Given the description of an element on the screen output the (x, y) to click on. 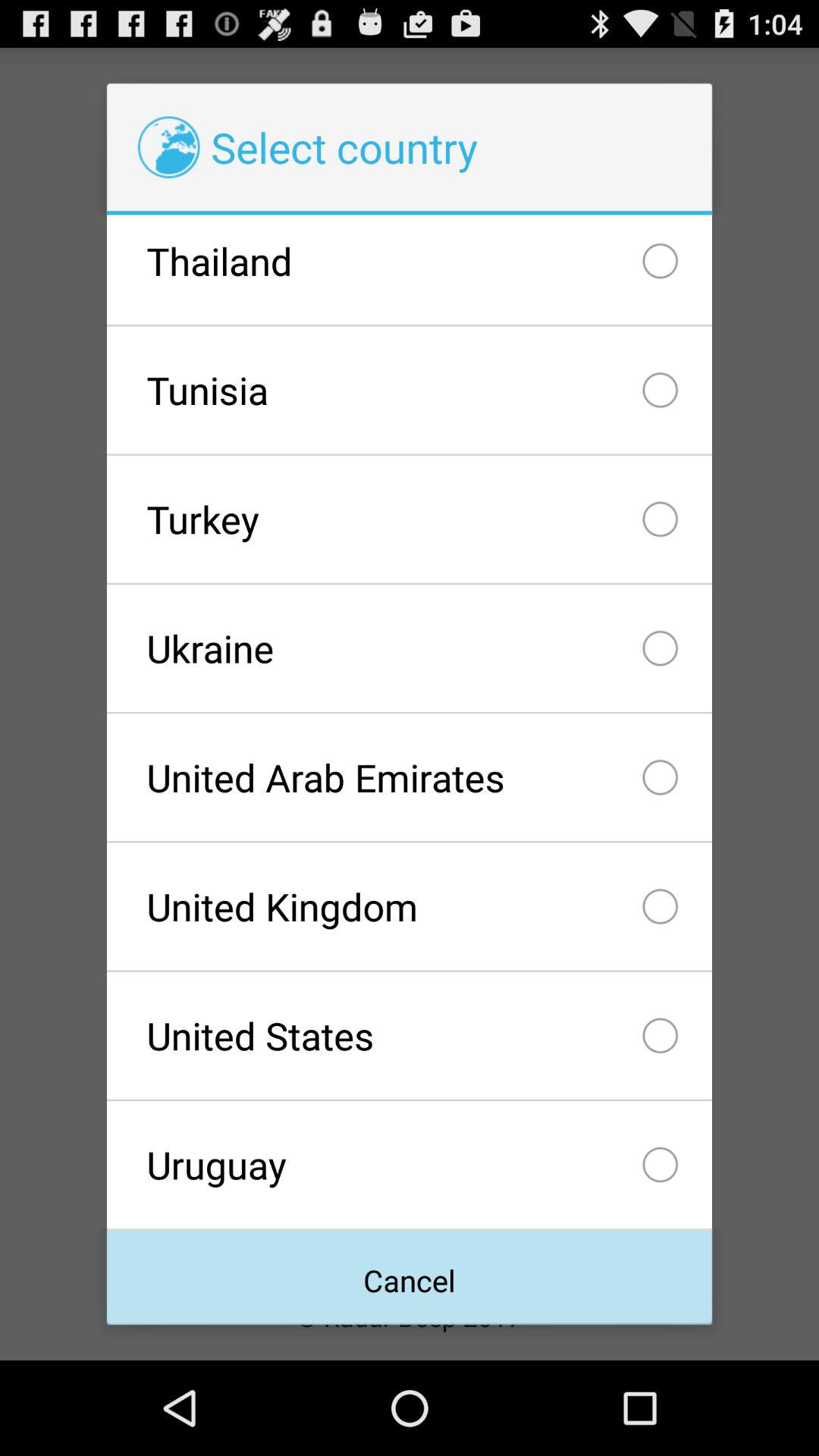
flip to the tunisia item (409, 389)
